Given the description of an element on the screen output the (x, y) to click on. 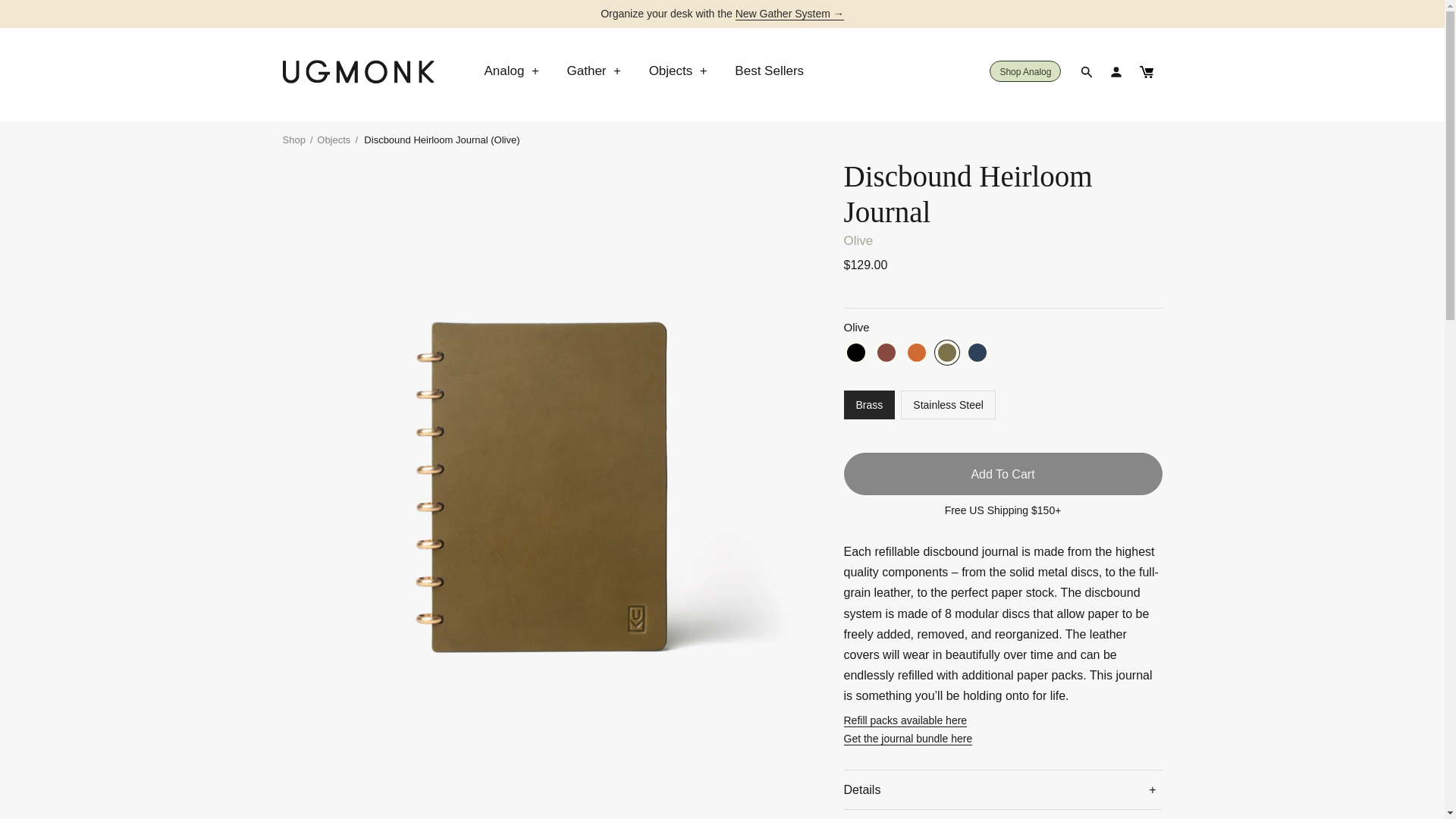
Ugmonk (357, 71)
Objects (680, 70)
Analog (512, 70)
Best Sellers (769, 70)
Best Sellers (769, 70)
cart (1145, 71)
Gather (595, 70)
